Given the description of an element on the screen output the (x, y) to click on. 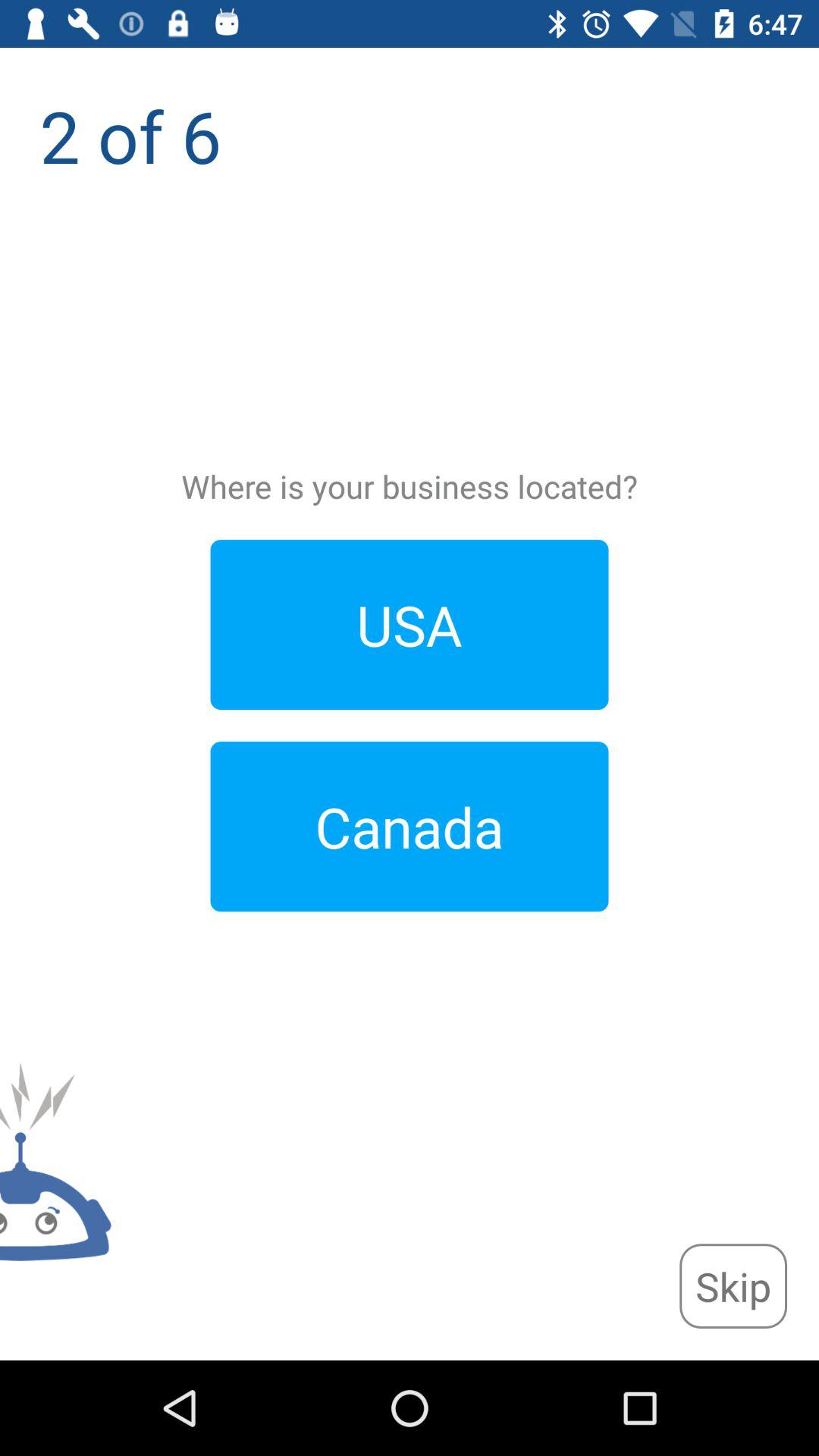
press the app below the 2 of 6 icon (733, 1285)
